Given the description of an element on the screen output the (x, y) to click on. 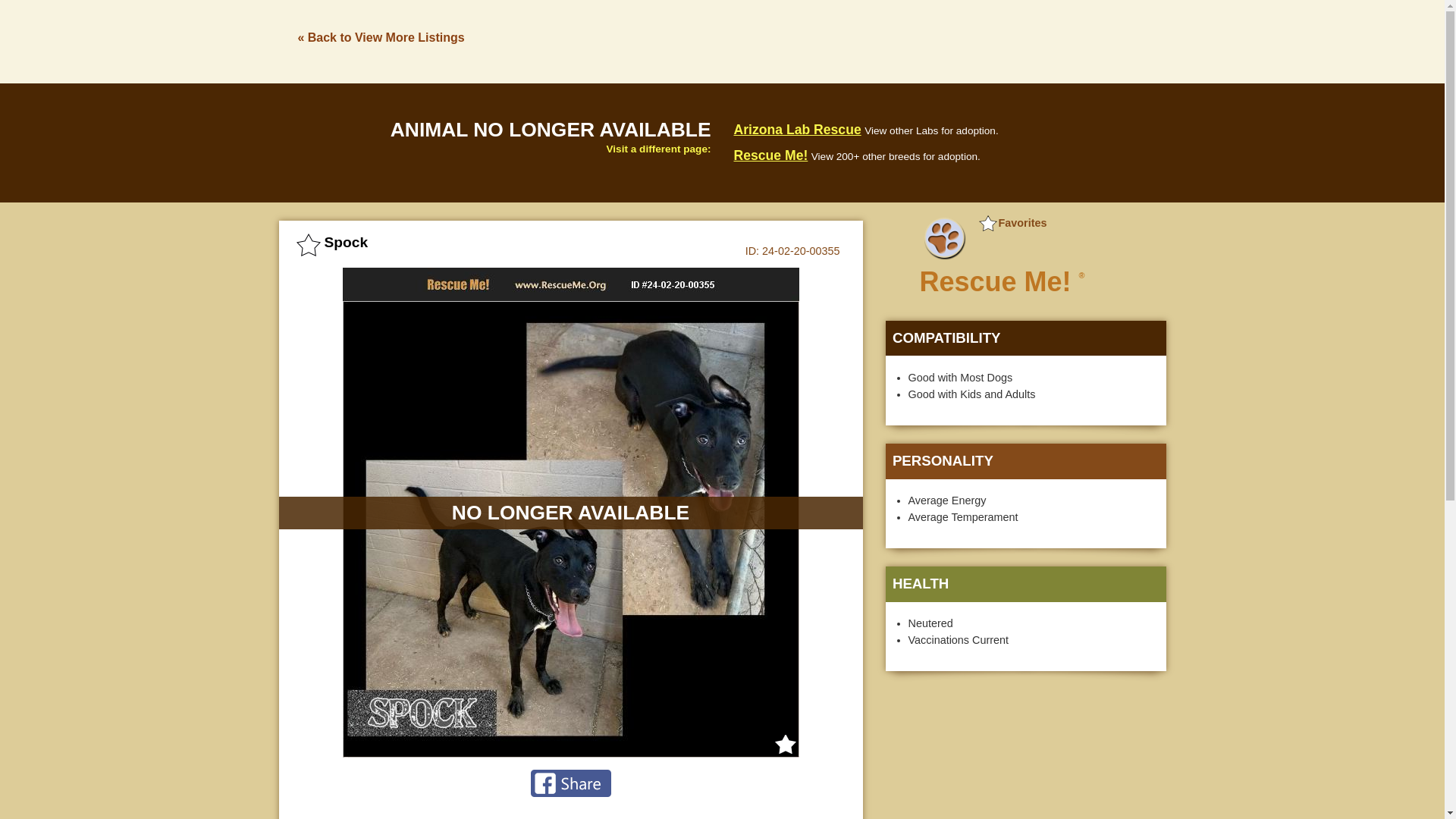
Favorites (1011, 223)
Rescue Me! (770, 155)
Advertisement (890, 39)
Advertisement (1025, 754)
Arizona Lab Rescue (797, 129)
